Given the description of an element on the screen output the (x, y) to click on. 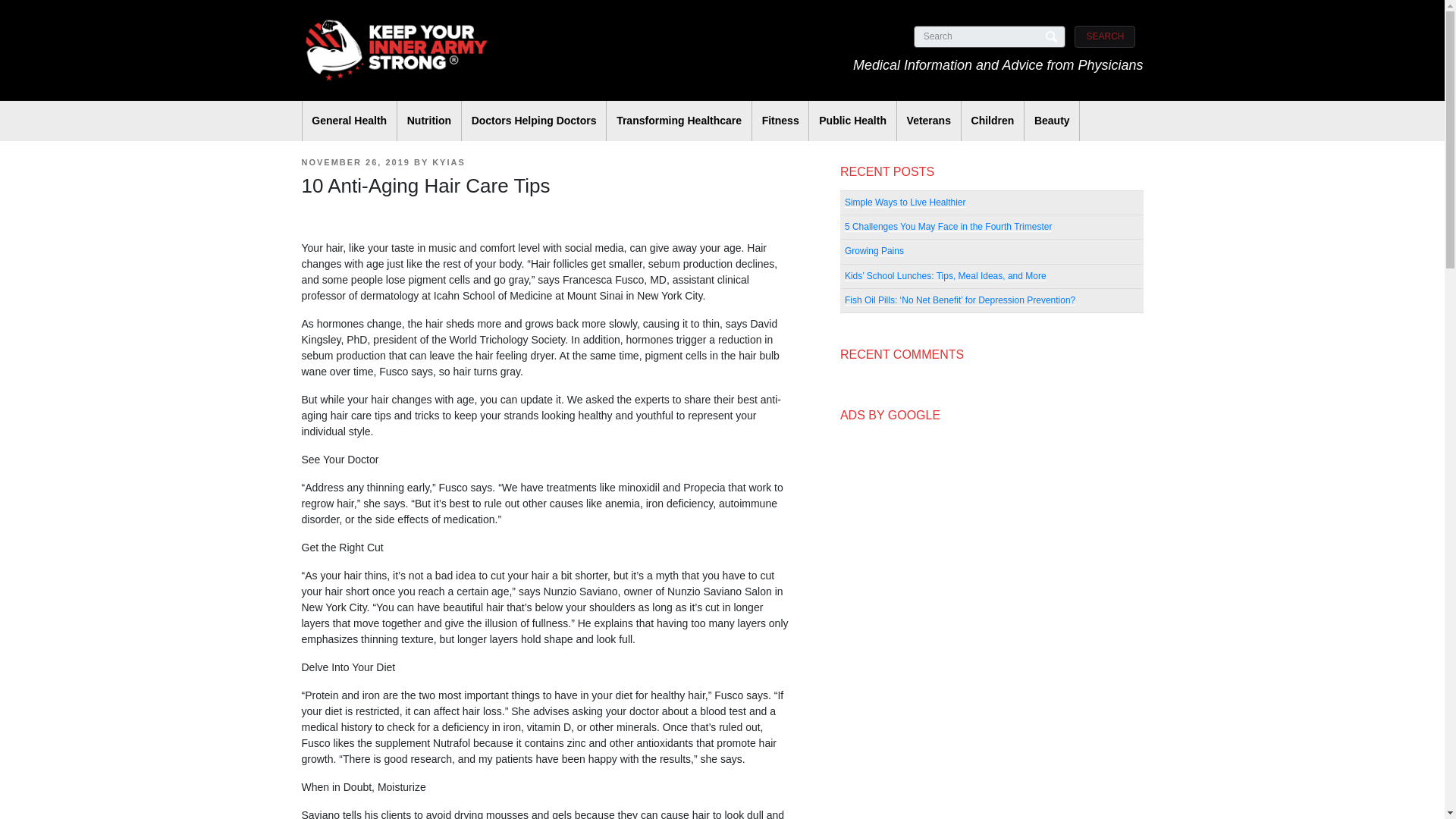
Fitness (780, 120)
General Health (348, 120)
Growing Pains (874, 250)
5 Challenges You May Face in the Fourth Trimester (947, 226)
NOVEMBER 26, 2019 (355, 162)
KYIAS (448, 162)
Doctors Helping Doctors (534, 120)
Beauty (1051, 120)
SEARCH (1104, 36)
Children (991, 120)
